Given the description of an element on the screen output the (x, y) to click on. 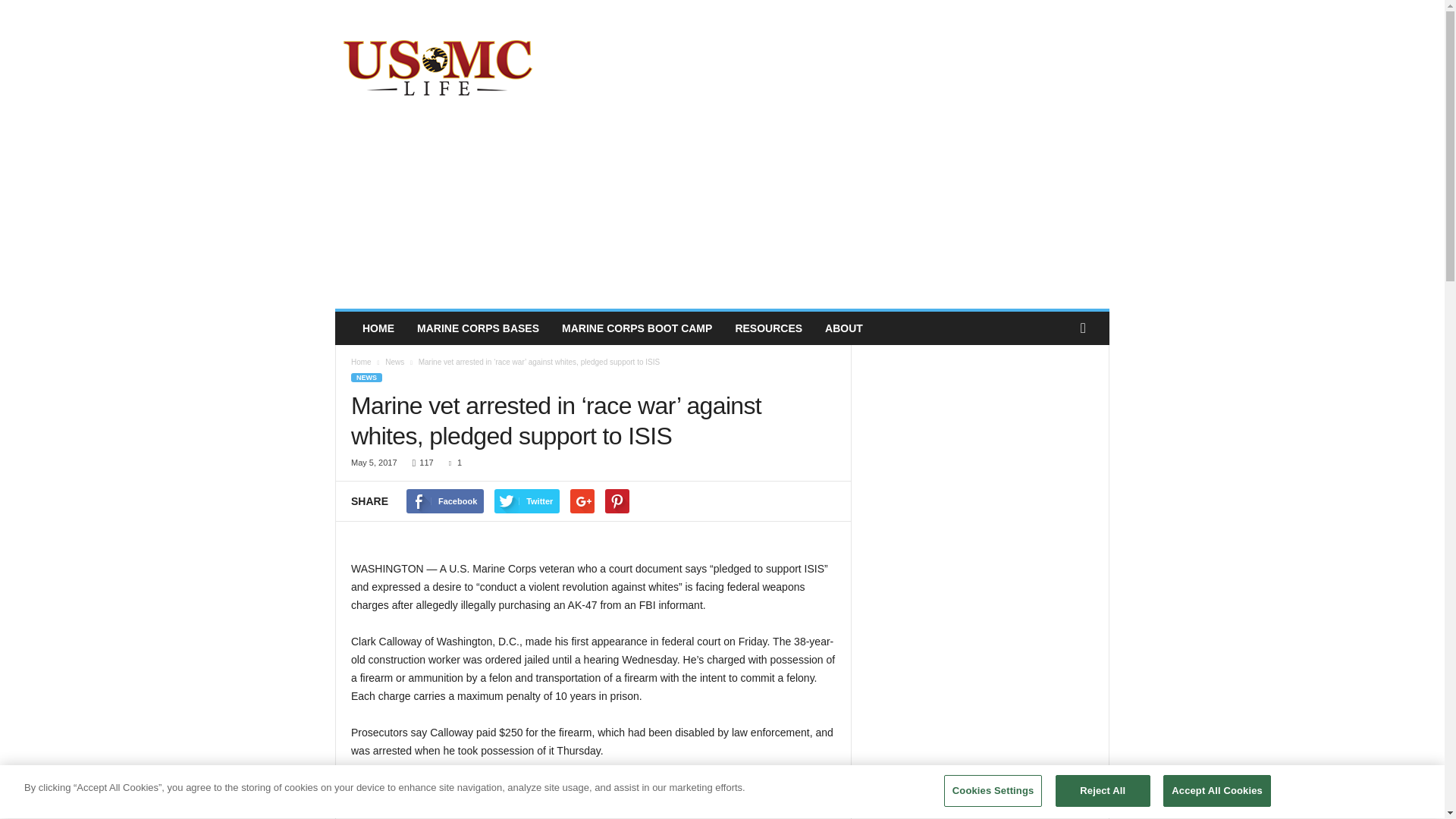
NEWS (365, 377)
1 (451, 461)
MARINE CORPS BOOT CAMP (636, 328)
View all posts in News (394, 361)
News (394, 361)
MARINE CORPS BASES (478, 328)
About (844, 328)
Twitter (527, 500)
USMC Life (437, 65)
RESOURCES (768, 328)
ABOUT (844, 328)
HOME (378, 328)
Facebook (444, 500)
